Given the description of an element on the screen output the (x, y) to click on. 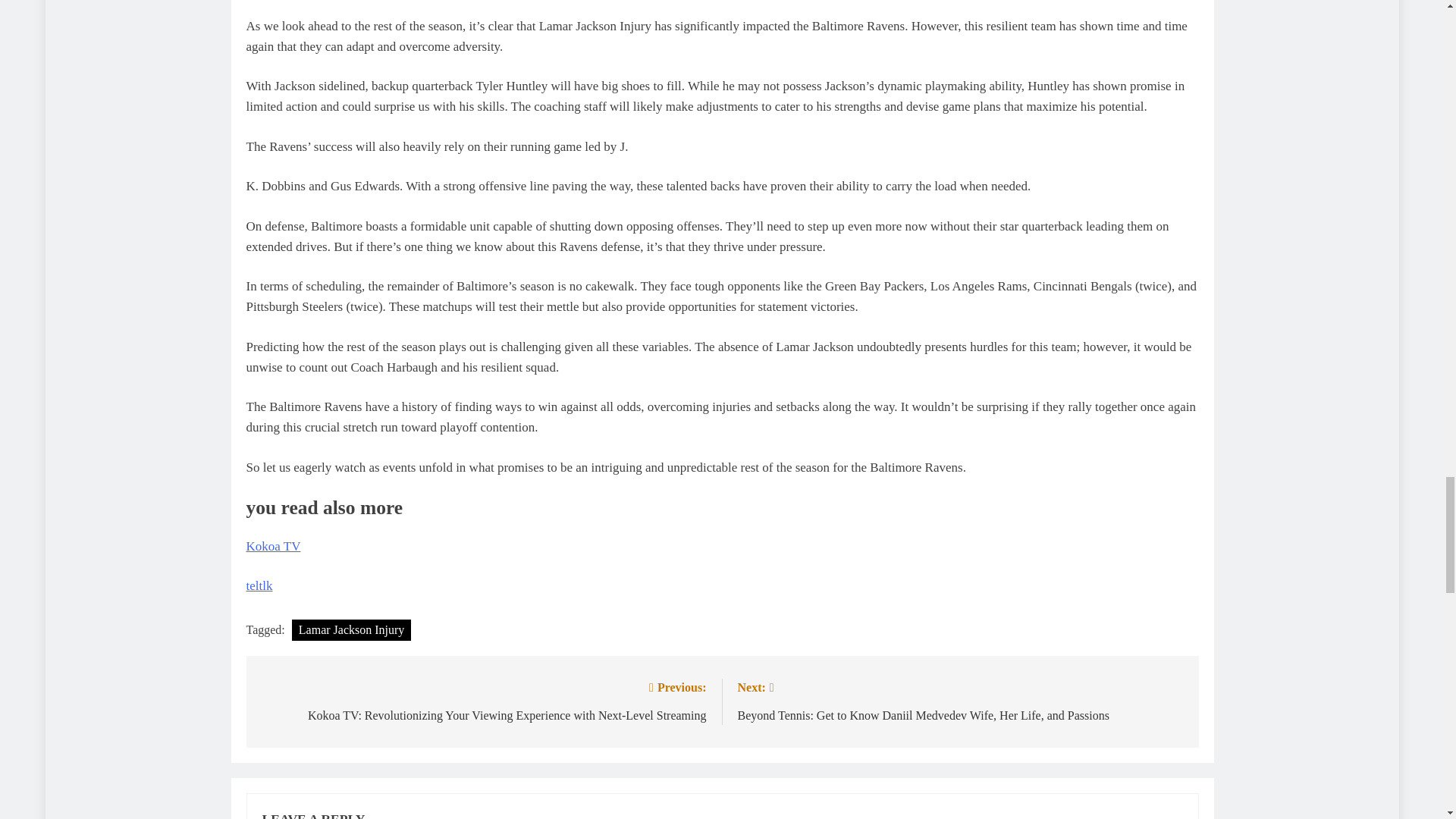
Lamar Jackson Injury (352, 629)
Kokoa TV (272, 545)
teltlk (259, 585)
